Given the description of an element on the screen output the (x, y) to click on. 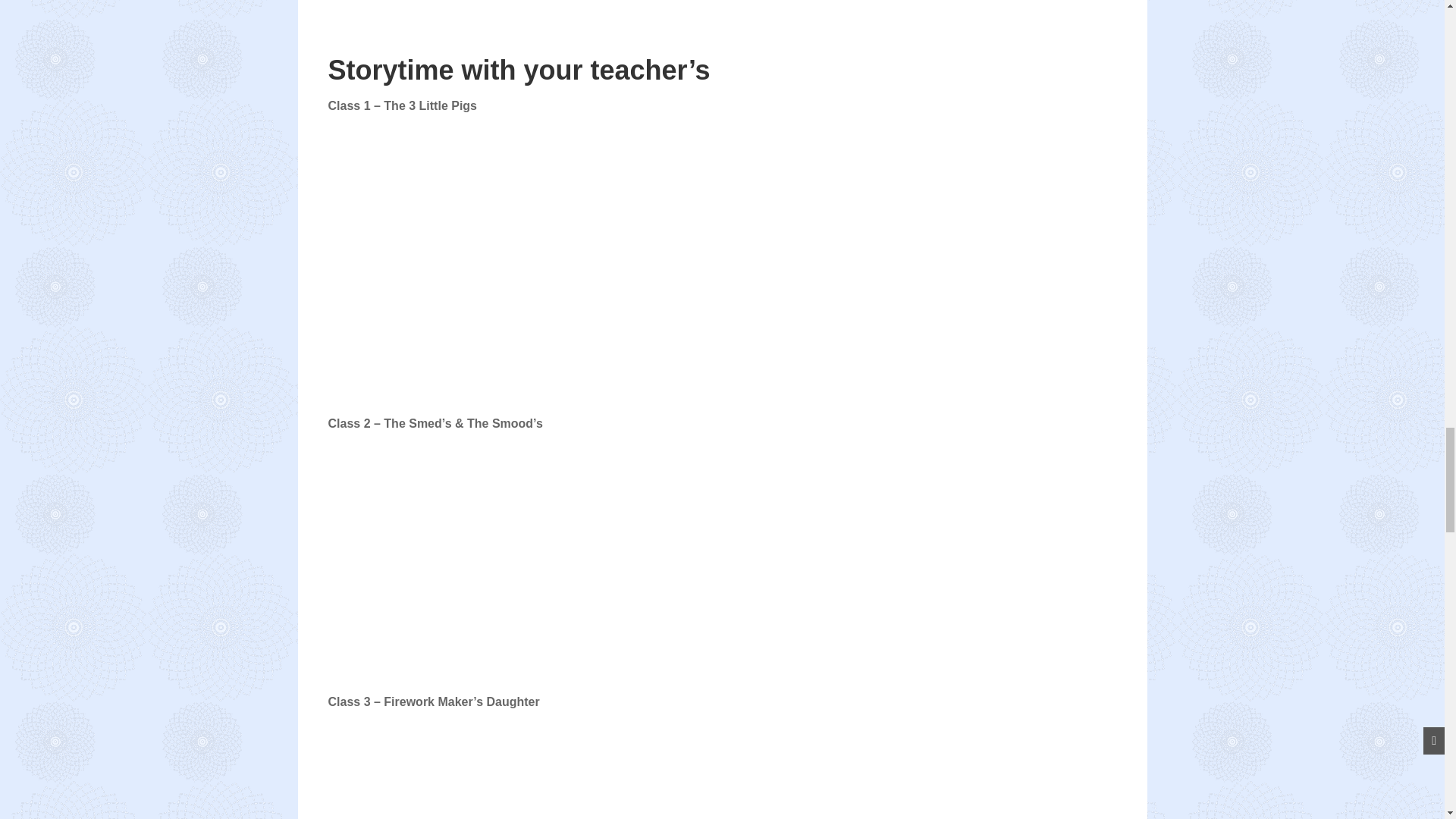
Class 1 Storytime . The 3 little pigs. (516, 281)
Story time class 2 . The smeds and the snoods (516, 559)
Class 3 Storytime. Firework makers daughter. (516, 775)
